Given the description of an element on the screen output the (x, y) to click on. 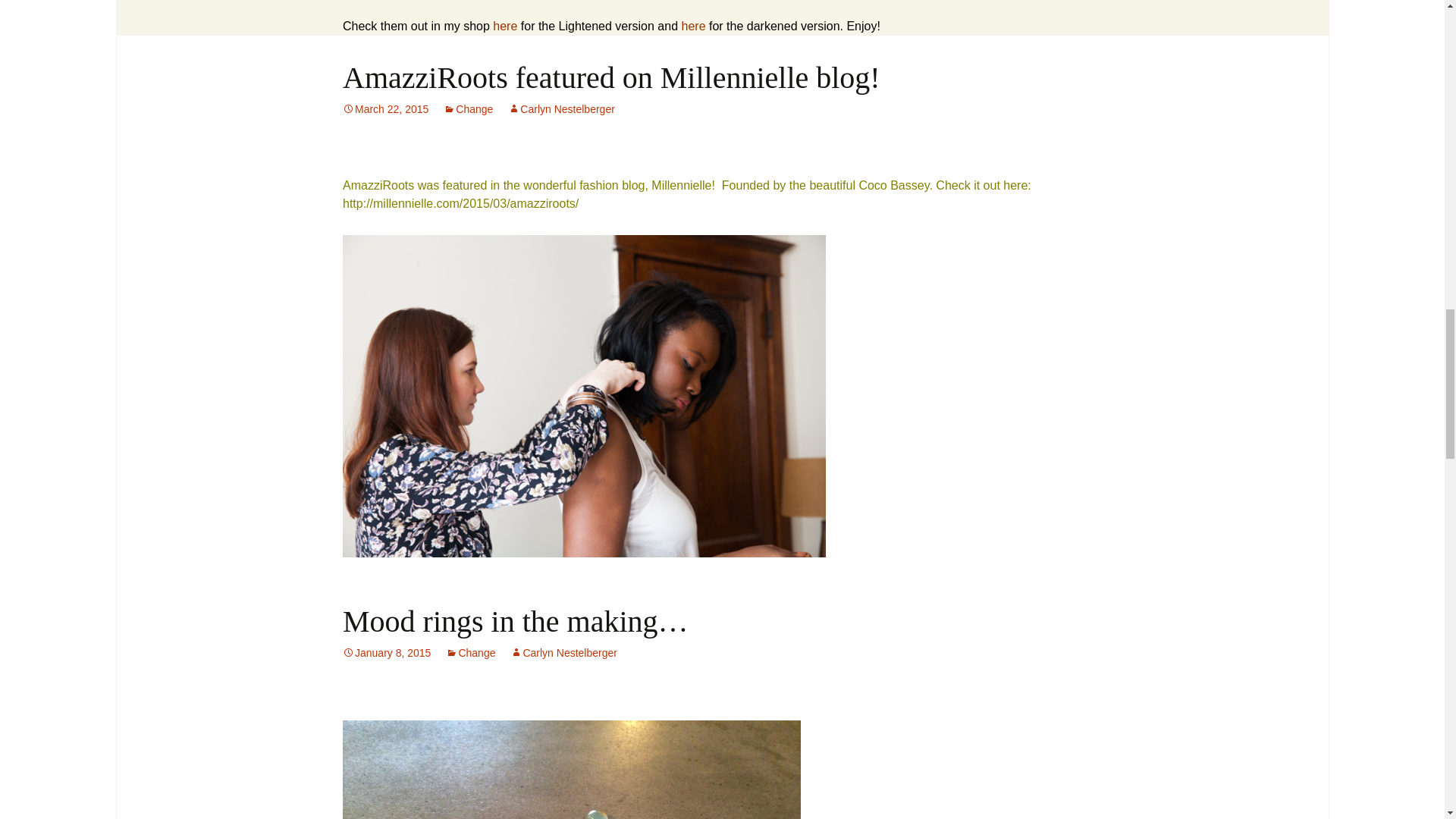
AmazziRoots featured on Millennielle blog! (611, 77)
Darkened Welo Opal Ring (693, 25)
here (693, 25)
here (504, 25)
Lightened Welo Opal Ring (504, 25)
Change (468, 109)
Change (470, 653)
January 8, 2015 (386, 653)
Carlyn Nestelberger (561, 109)
View all posts by Carlyn Nestelberger (561, 109)
